Given the description of an element on the screen output the (x, y) to click on. 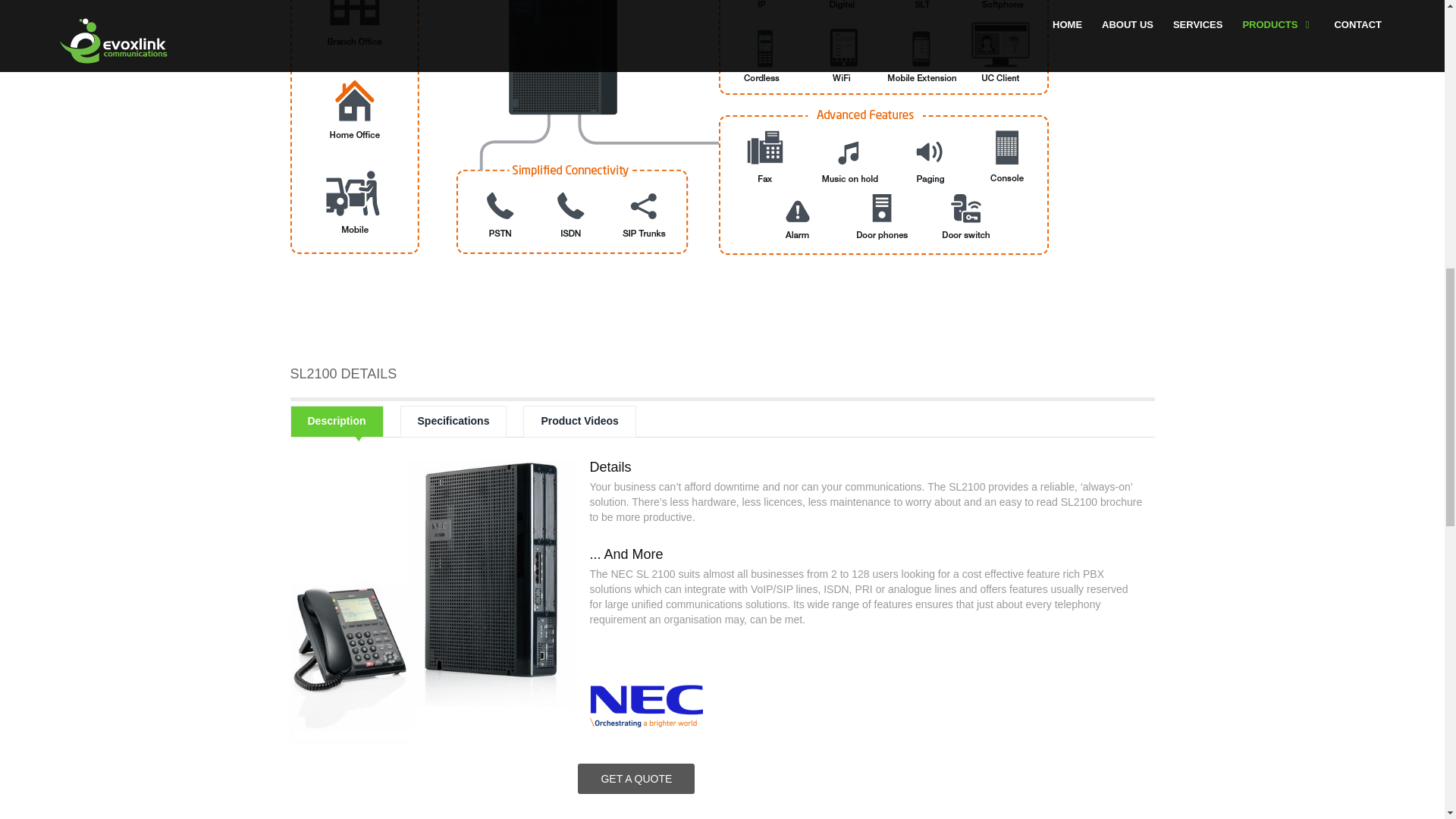
Specifications (453, 421)
Product Videos (578, 421)
GET A QUOTE (636, 778)
Description (335, 421)
